Given the description of an element on the screen output the (x, y) to click on. 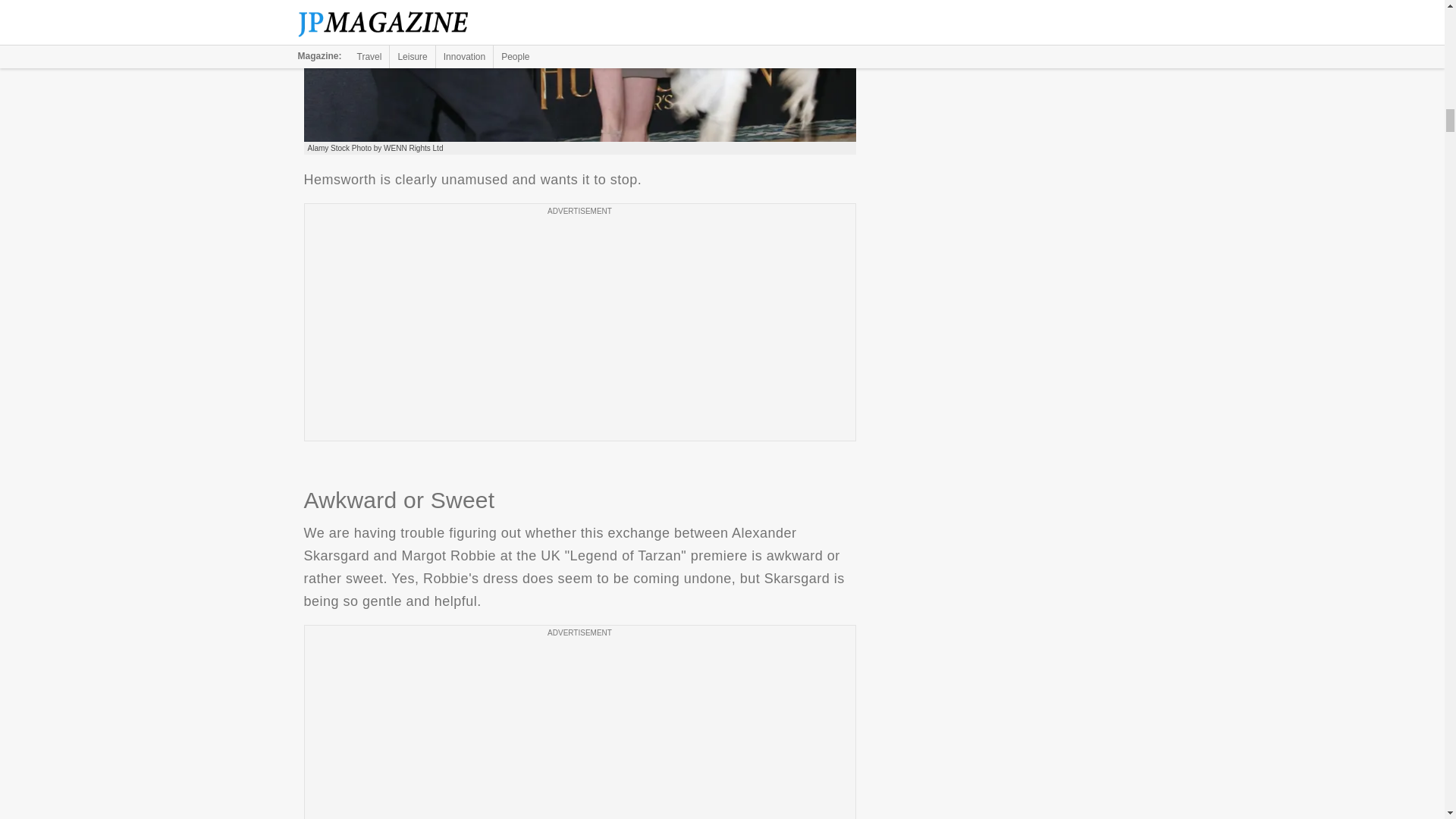
Flipping the Bird (579, 70)
